Given the description of an element on the screen output the (x, y) to click on. 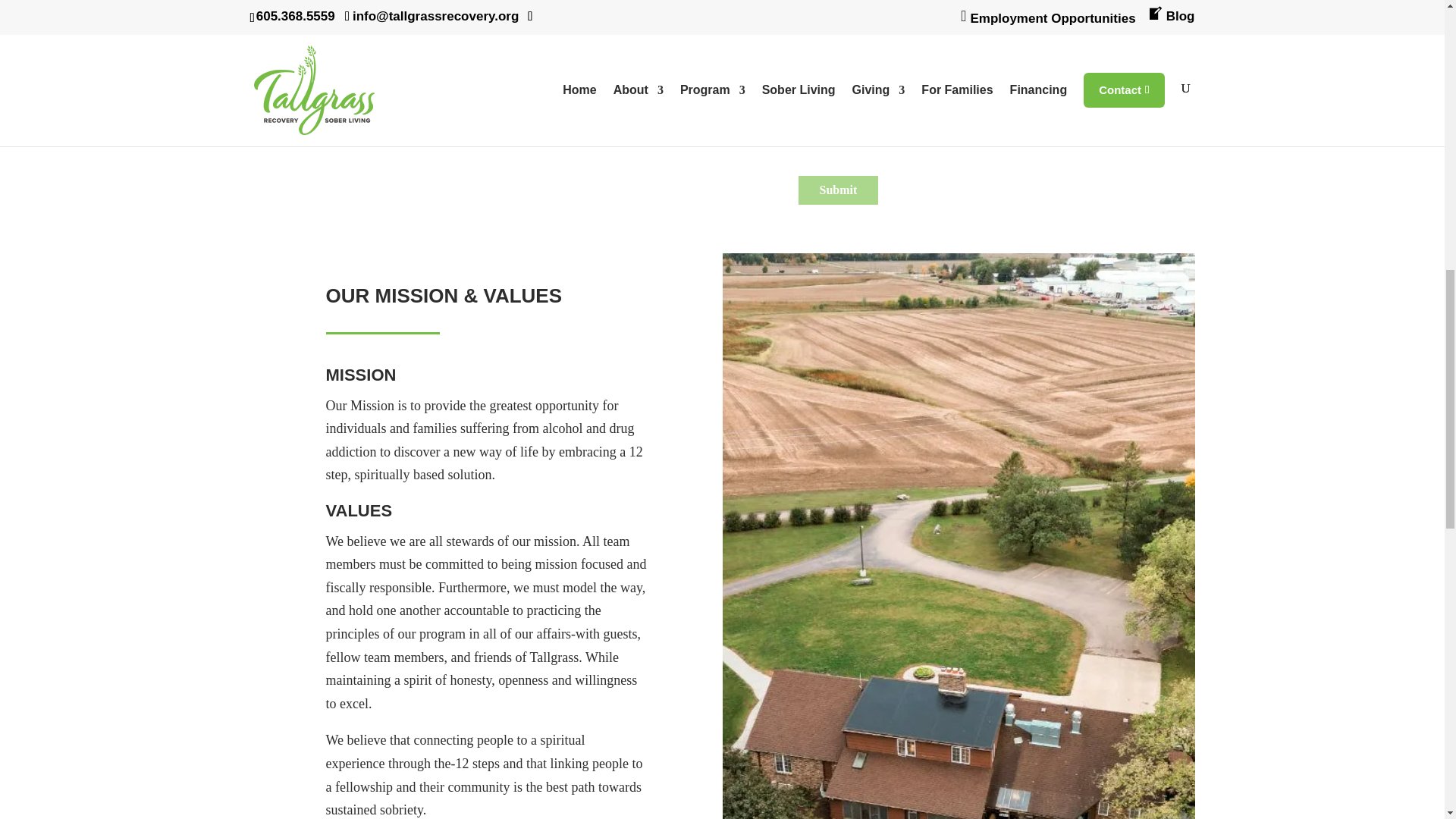
Submit (837, 190)
